Given the description of an element on the screen output the (x, y) to click on. 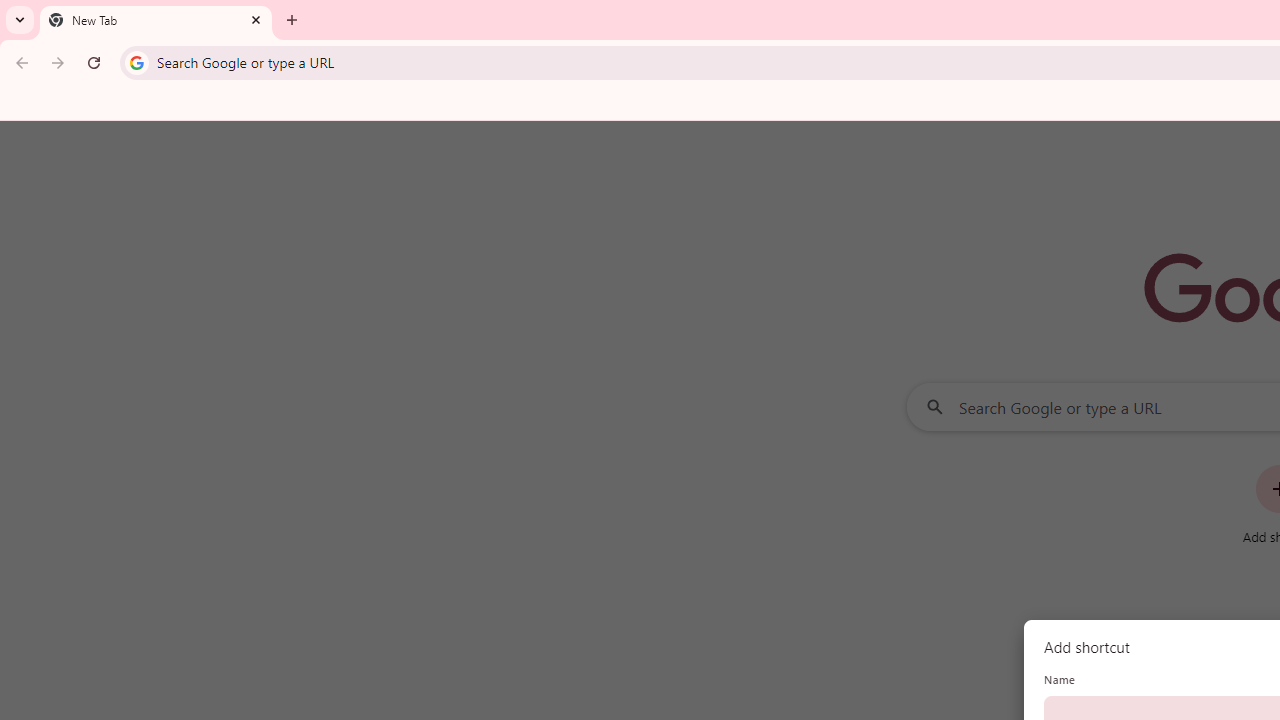
New Tab (156, 20)
